Given the description of an element on the screen output the (x, y) to click on. 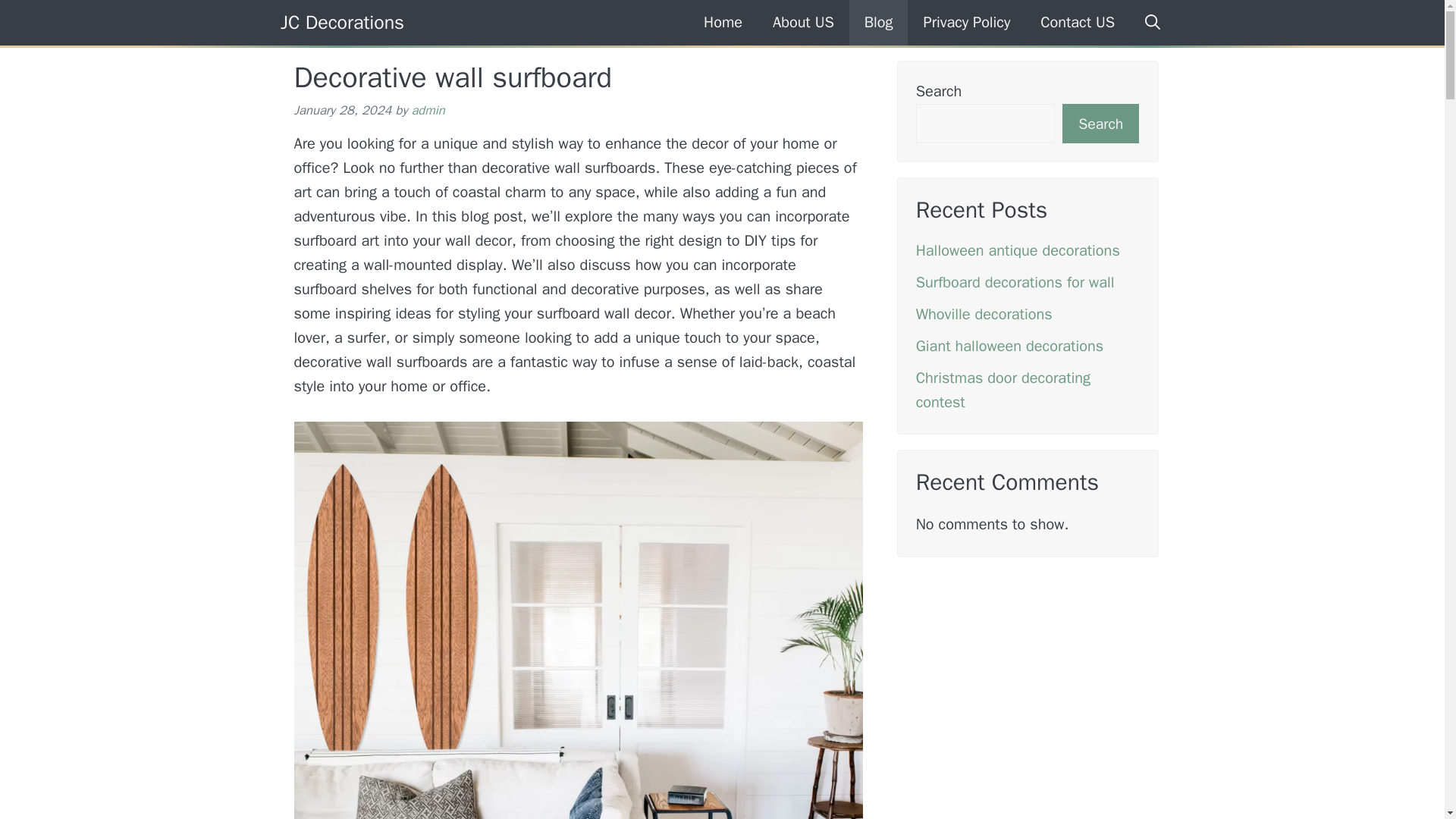
Surfboard decorations for wall (1015, 281)
Search (1100, 123)
Privacy Policy (966, 22)
Contact US (1077, 22)
Whoville decorations (983, 313)
Christmas door decorating contest (1002, 389)
JC Decorations (342, 22)
Blog (878, 22)
Home (722, 22)
About US (802, 22)
admin (427, 109)
View all posts by admin (427, 109)
Giant halloween decorations (1009, 345)
Halloween antique decorations (1017, 250)
